Given the description of an element on the screen output the (x, y) to click on. 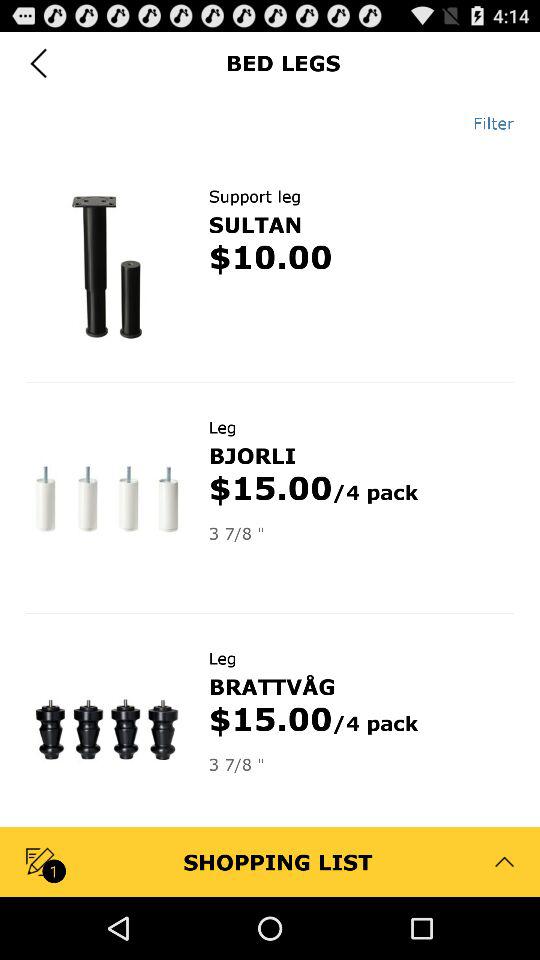
turn on app above 15 00 4 app (252, 455)
